Given the description of an element on the screen output the (x, y) to click on. 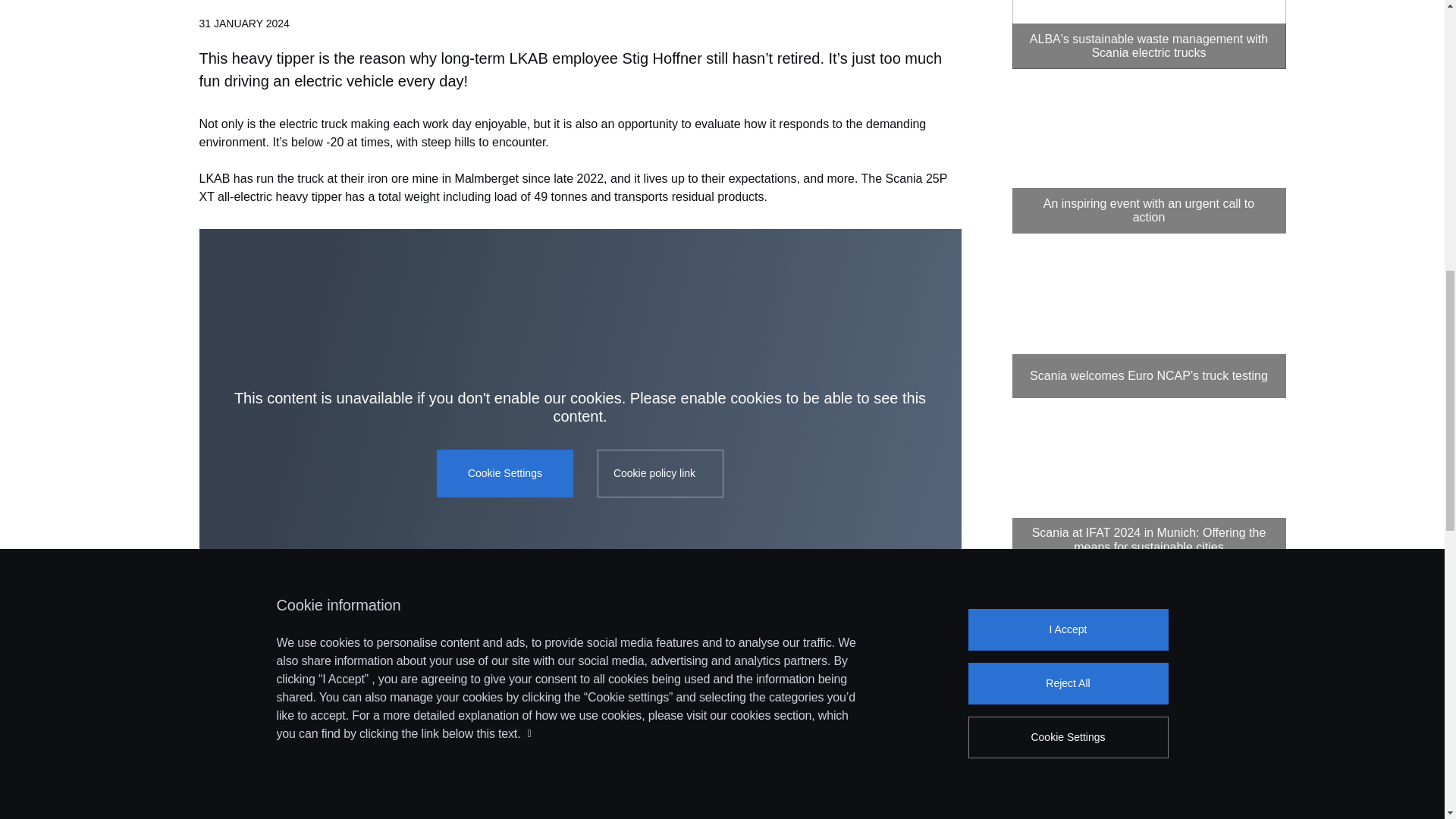
Scania's Sustainable Transport Forum 2024 (1148, 156)
Sustainability at Scania (579, 809)
Cookie Settings (504, 473)
